Given the description of an element on the screen output the (x, y) to click on. 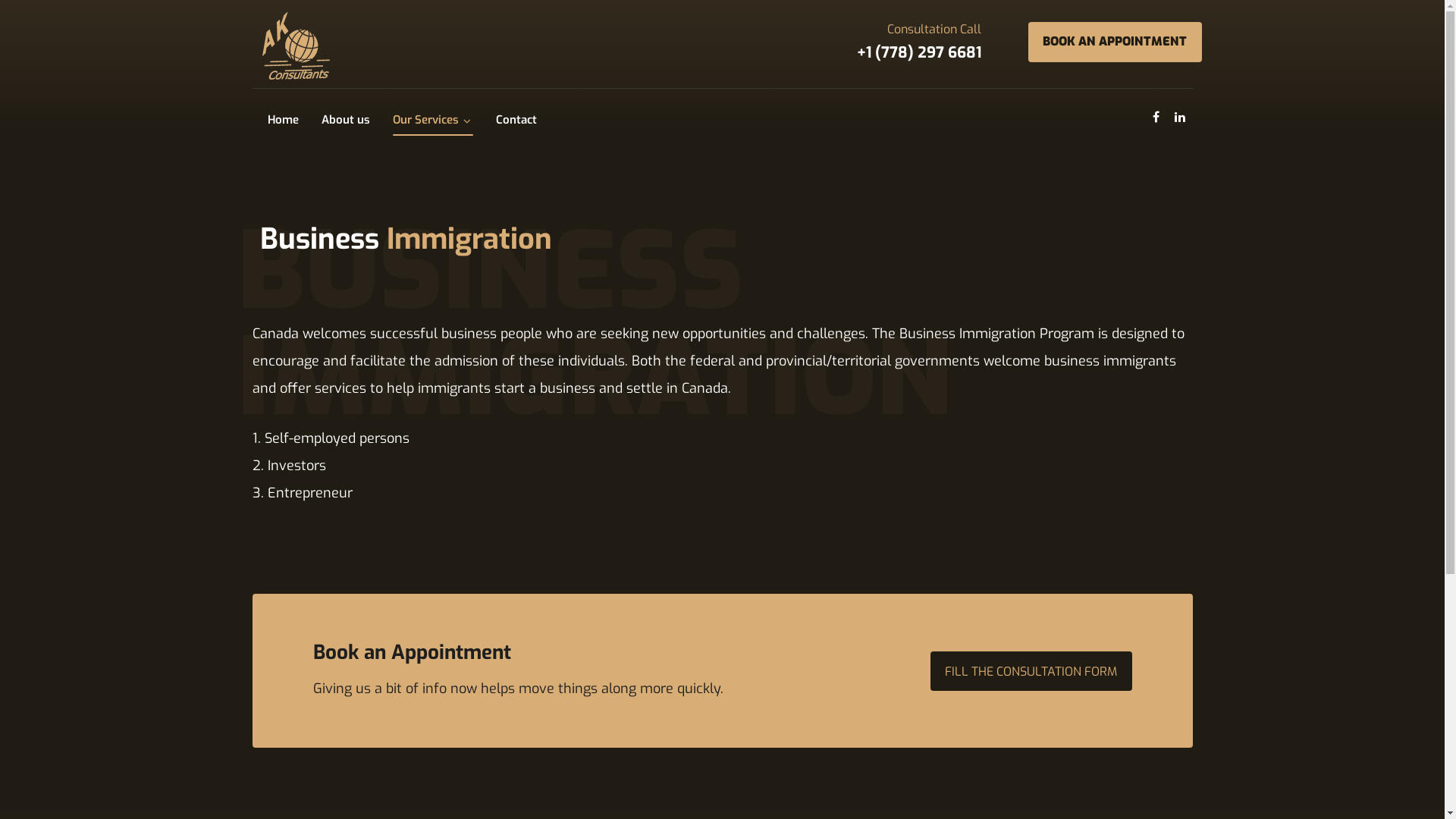
AK Immigration Consultants Inc. Element type: hover (292, 46)
About us Element type: text (345, 119)
Contact Element type: text (515, 119)
FILL THE CONSULTATION FORM Element type: text (1030, 670)
Our Services Element type: text (432, 119)
Home Element type: text (282, 119)
BOOK AN APPOINTMENT Element type: text (1114, 41)
